Given the description of an element on the screen output the (x, y) to click on. 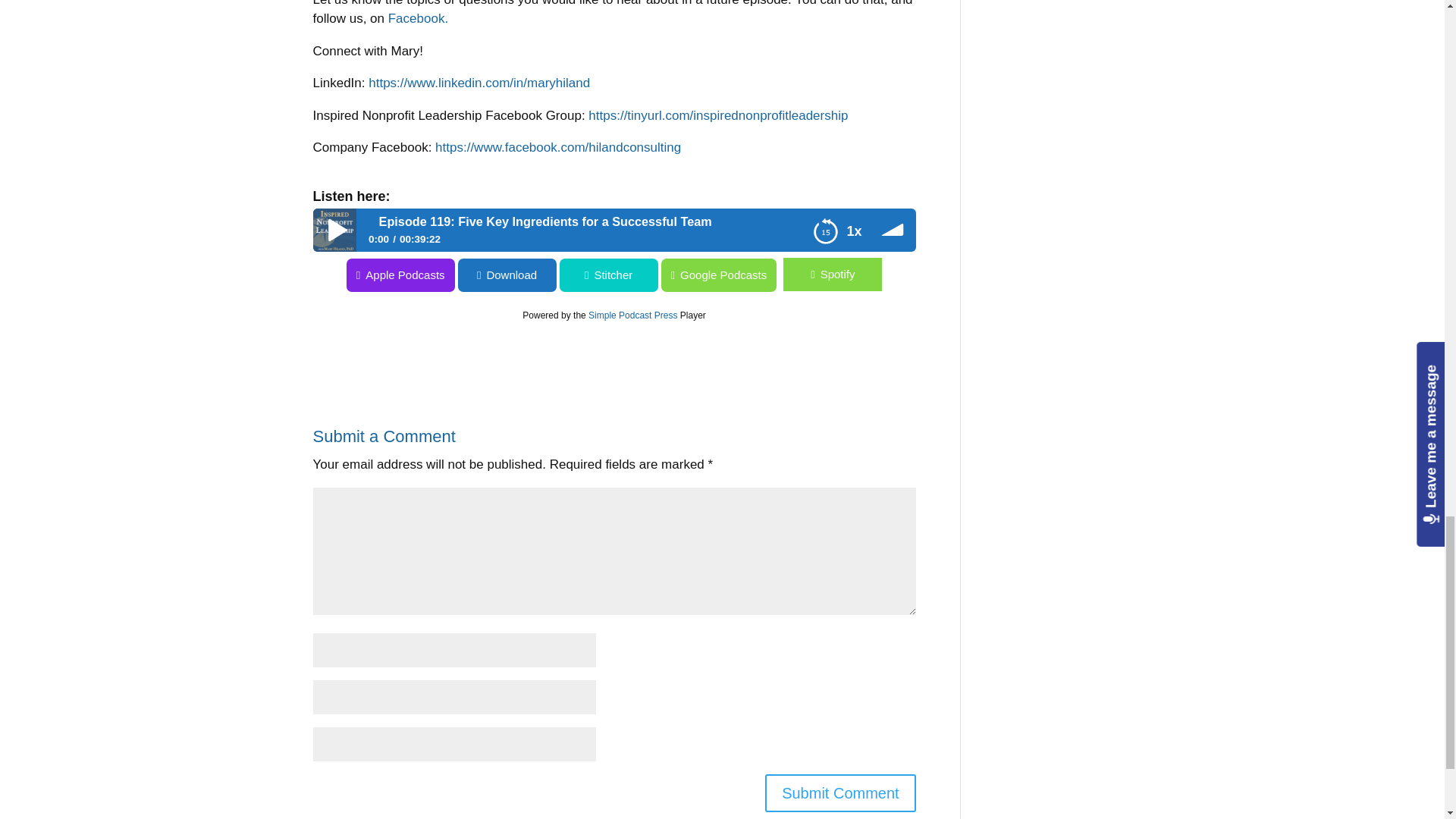
Facebook. (418, 18)
Submit Comment (840, 792)
